Given the description of an element on the screen output the (x, y) to click on. 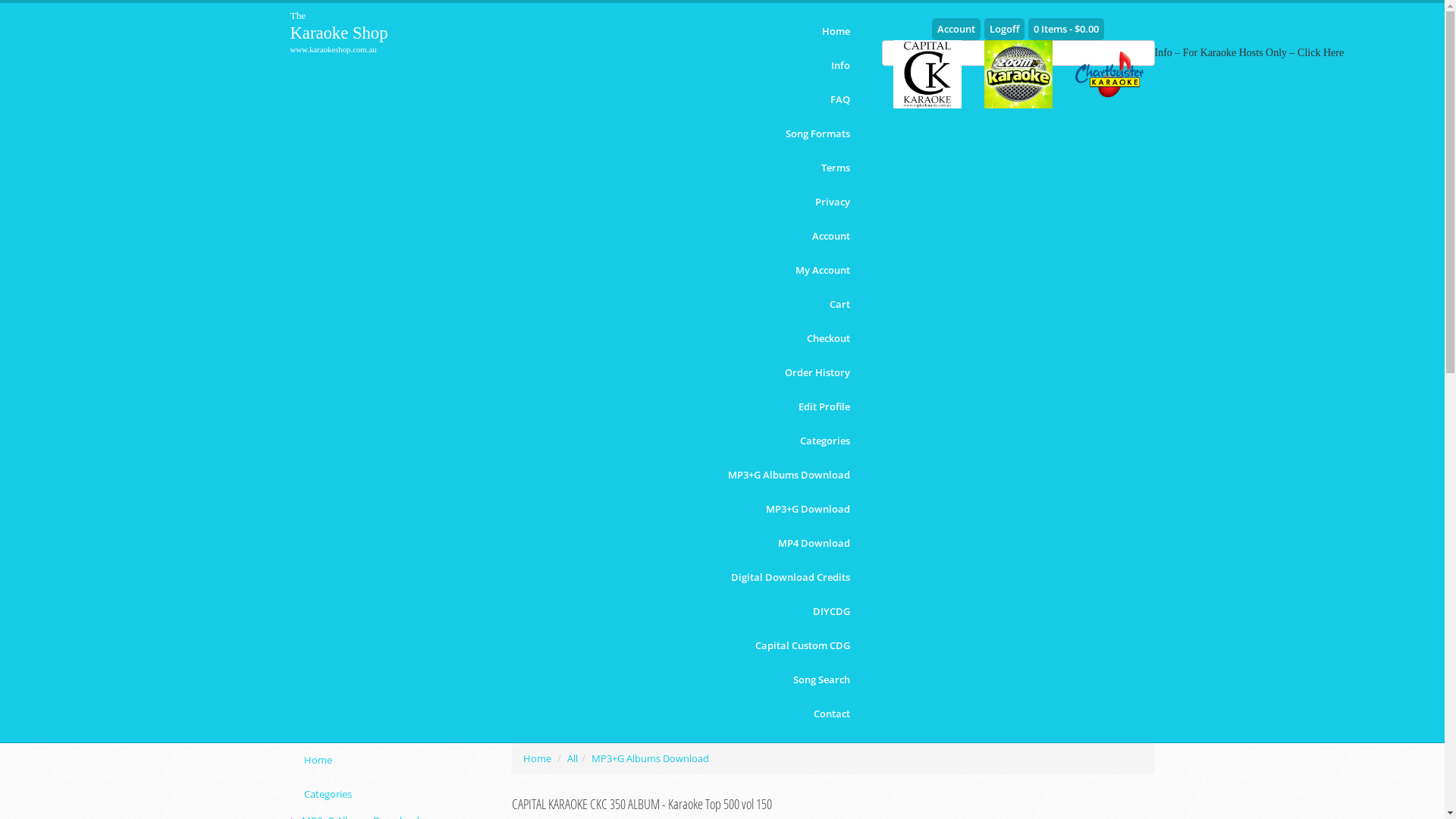
MP4 Download Element type: text (813, 543)
DIYCDG Element type: text (831, 611)
Terms Element type: text (834, 167)
Account Element type: text (830, 236)
Cart Element type: text (839, 304)
Song Formats Element type: text (817, 133)
FAQ Element type: text (839, 99)
Digital Download Credits Element type: text (790, 577)
Categories Element type: text (824, 440)
All Element type: text (572, 758)
Capital Custom CDG Element type: text (802, 645)
Privacy Element type: text (831, 202)
Contact Element type: text (830, 713)
Song Search Element type: text (821, 679)
The
Karaoke Shop
www.karaokeshop.com.au Element type: text (351, 31)
 Home Element type: text (389, 760)
Order History Element type: text (816, 372)
Edit Profile Element type: text (823, 406)
My Account Element type: text (821, 270)
0 Items - $0.00 Element type: text (1066, 29)
MP3+G Albums Download Element type: text (650, 758)
MP3+G Albums Download Element type: text (788, 475)
Checkout Element type: text (828, 338)
Info Element type: text (840, 65)
Logoff Element type: text (1004, 29)
 Categories Element type: text (389, 794)
Home Element type: text (835, 31)
Home Element type: text (537, 758)
MP3+G Download Element type: text (807, 509)
Account Element type: text (955, 29)
